Given the description of an element on the screen output the (x, y) to click on. 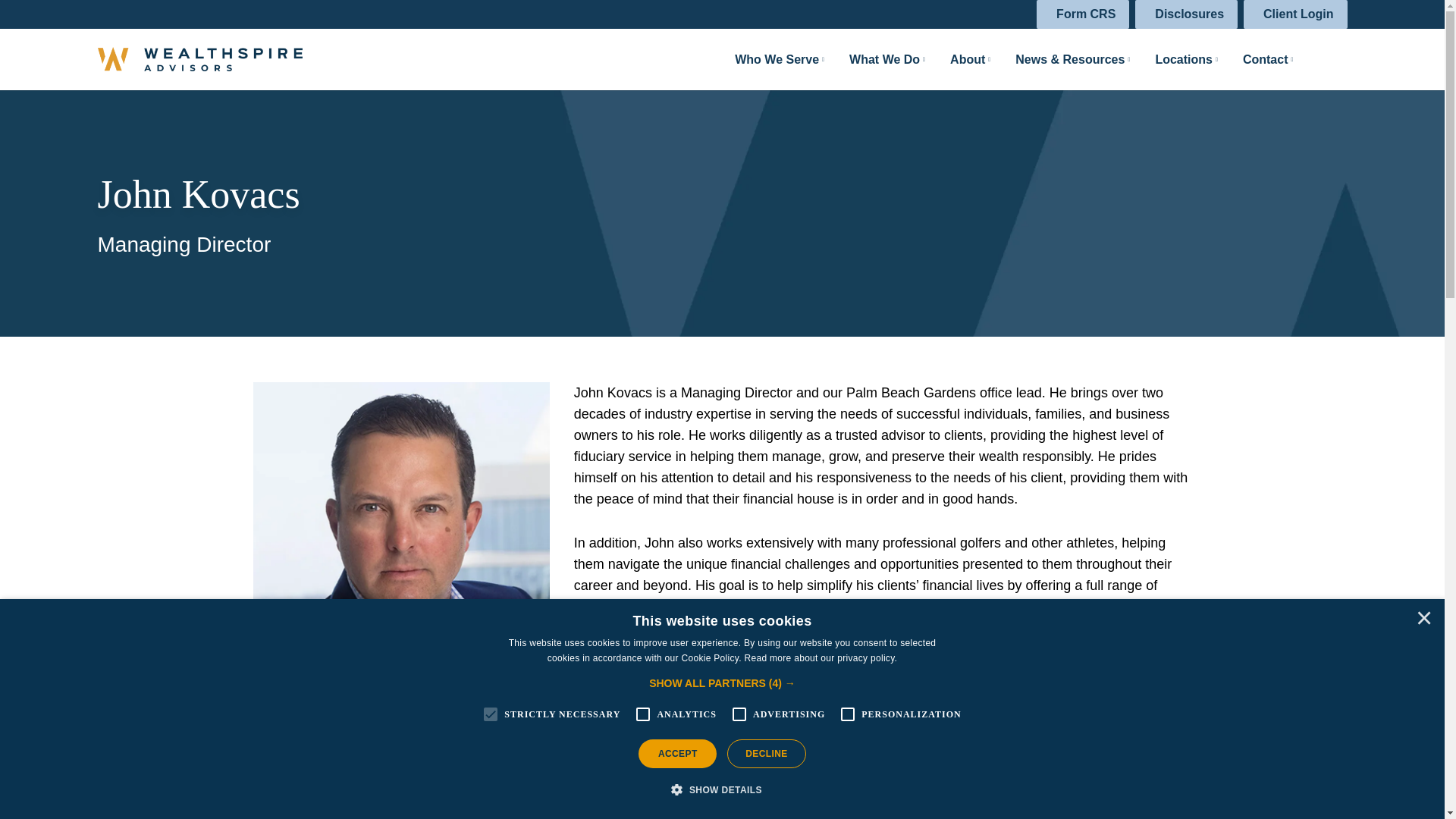
What We Do (877, 59)
Client Login (1294, 14)
Disclosures (1186, 14)
Who We Serve (768, 59)
Form CRS (1082, 14)
Wealthspire (199, 59)
Who We Serve (768, 59)
Form CRS (1082, 14)
What We Do (877, 59)
About (959, 59)
Client Login (1294, 14)
Disclosures (1186, 14)
